Given the description of an element on the screen output the (x, y) to click on. 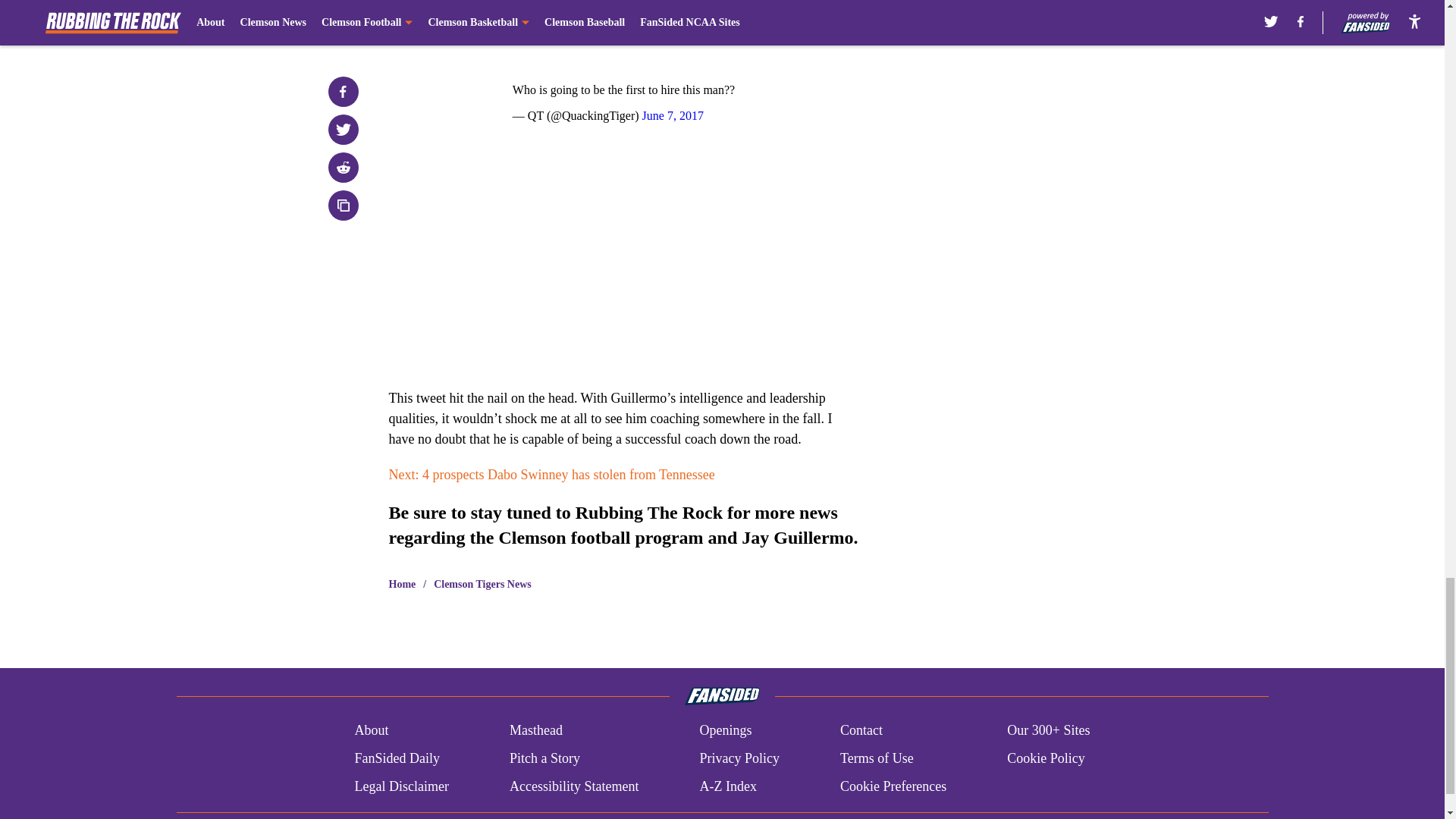
June 7, 2017 (672, 115)
Contact (861, 730)
Next: 4 prospects Dabo Swinney has stolen from Tennessee (551, 474)
Masthead (535, 730)
Privacy Policy (738, 758)
Pitch a Story (544, 758)
Clemson Tigers News (482, 584)
Home (401, 584)
FanSided Daily (396, 758)
About (370, 730)
Openings (724, 730)
